Given the description of an element on the screen output the (x, y) to click on. 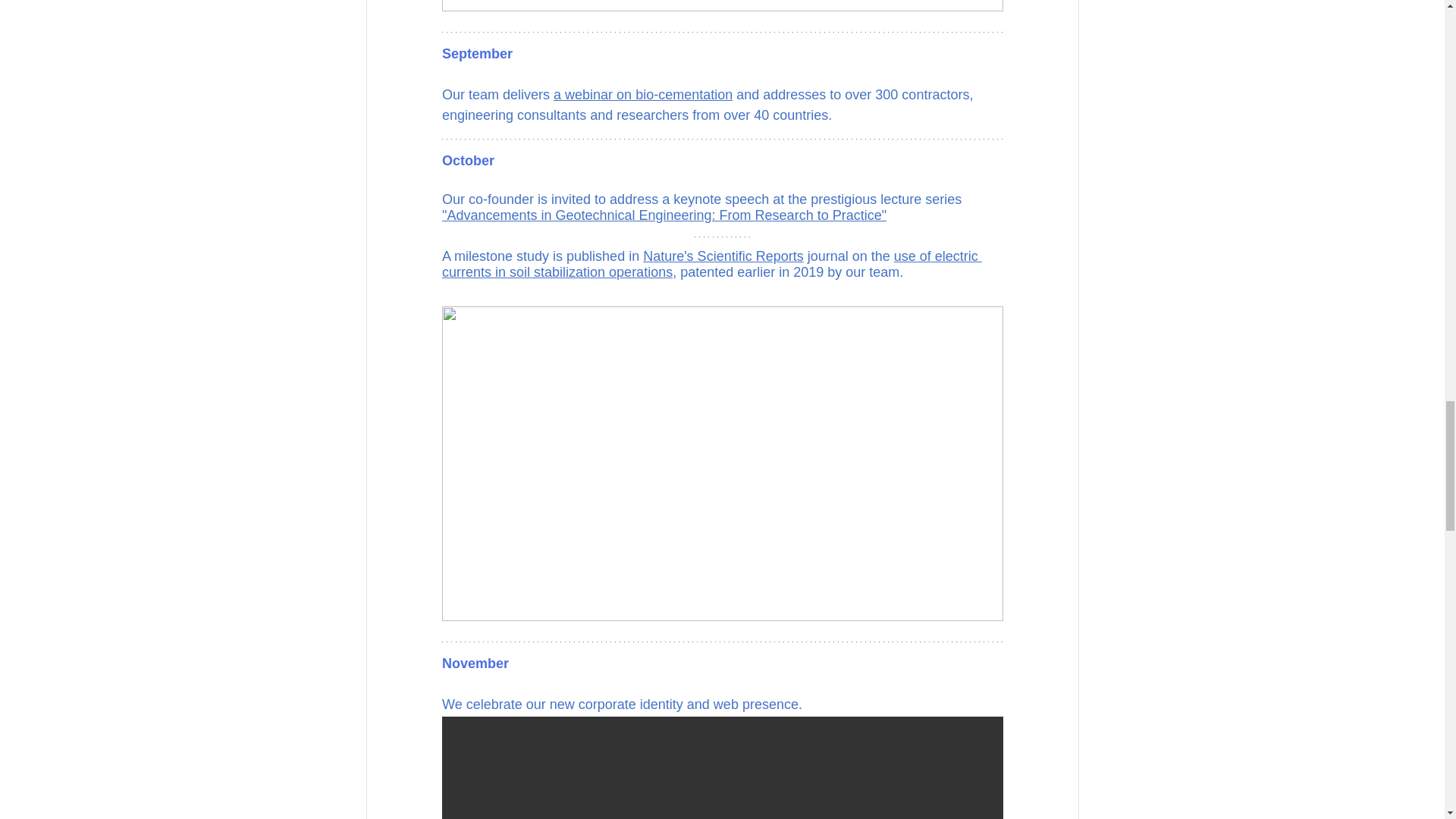
a webinar on bio-cementation (642, 94)
use of electric currents in soil stabilization operations (711, 264)
Nature's Scientific Reports (723, 255)
